Given the description of an element on the screen output the (x, y) to click on. 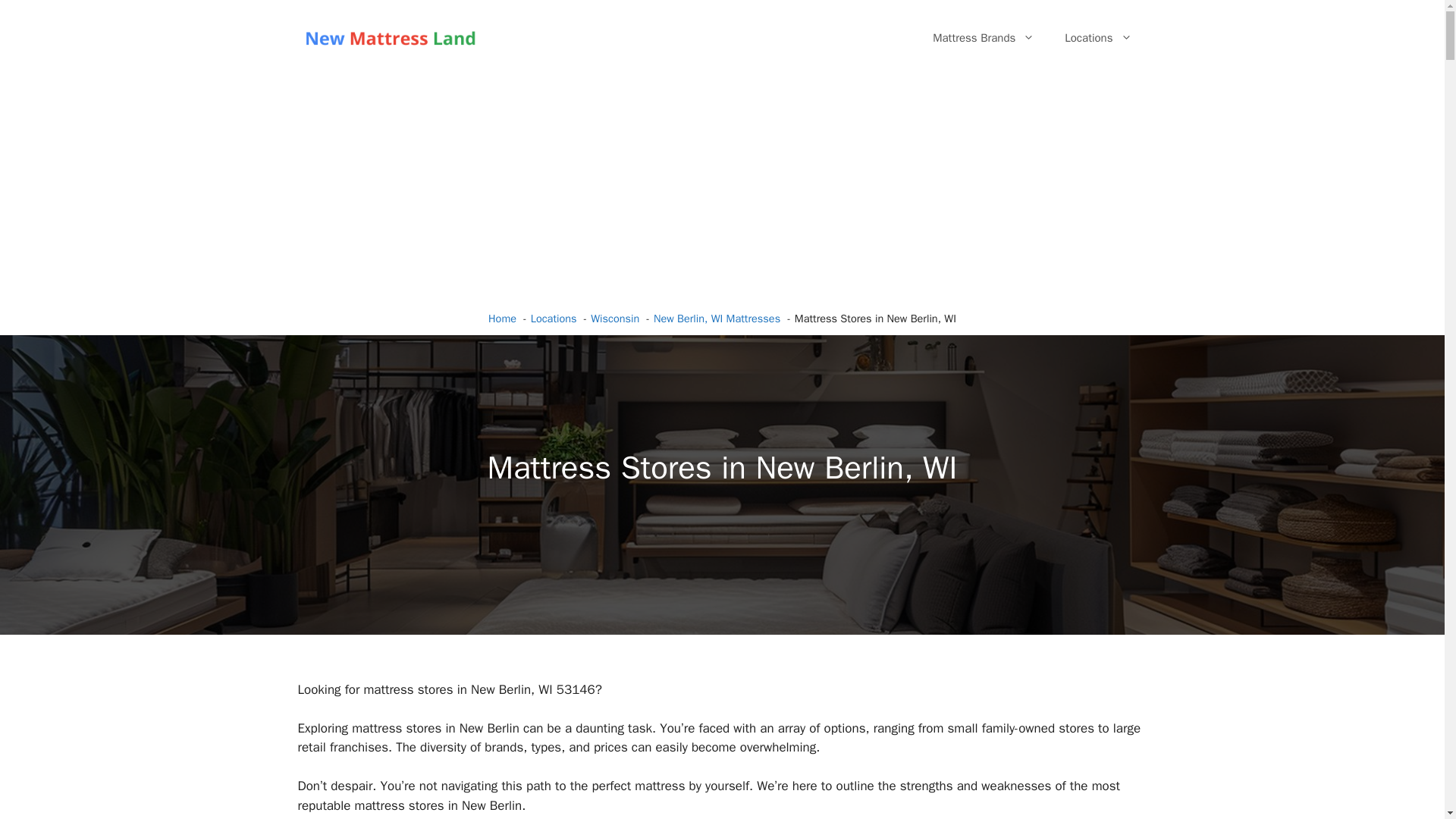
Mattress Brands (983, 37)
Locations (1098, 37)
